Given the description of an element on the screen output the (x, y) to click on. 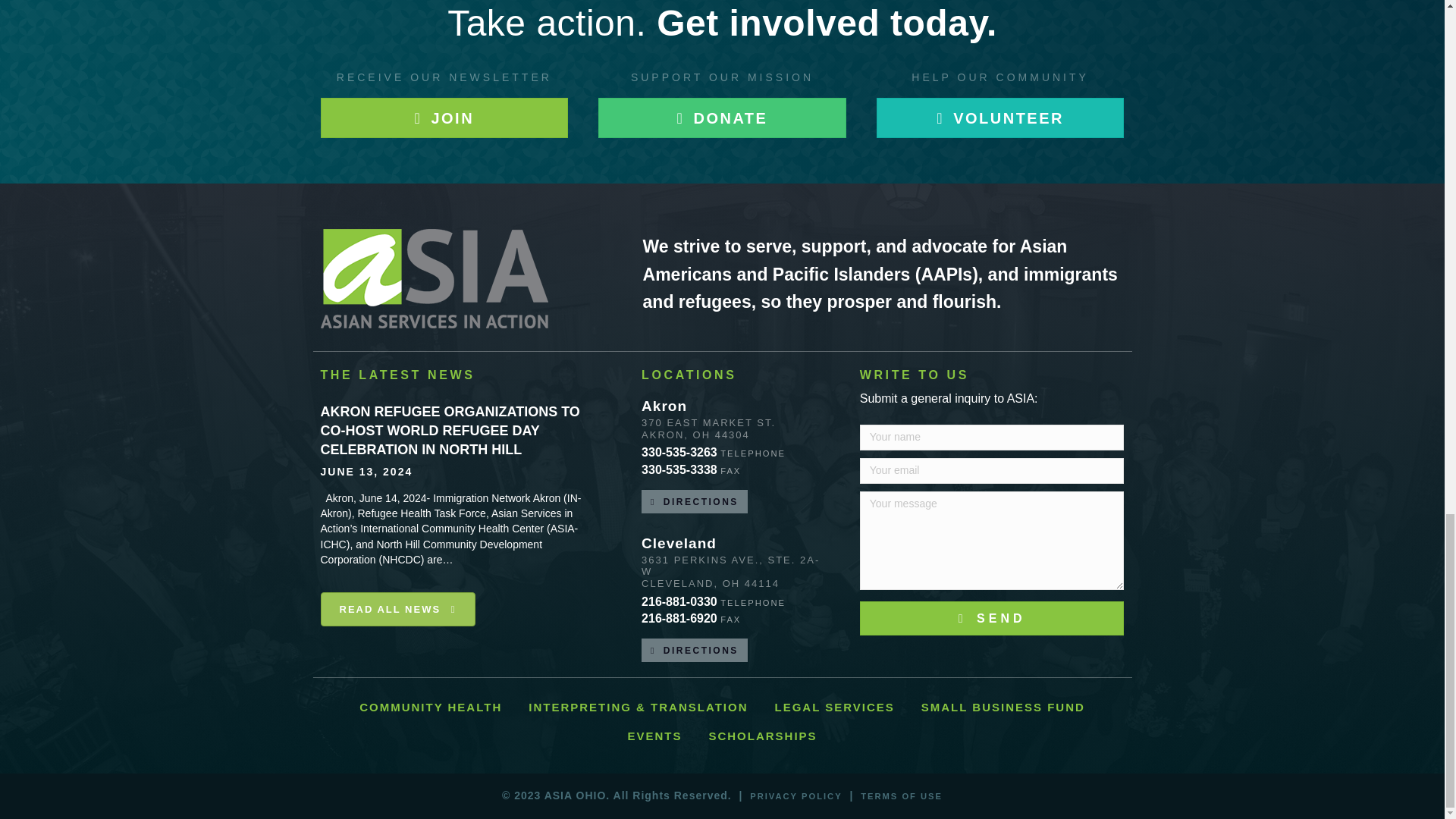
DONATE (721, 117)
JOIN (443, 117)
